Given the description of an element on the screen output the (x, y) to click on. 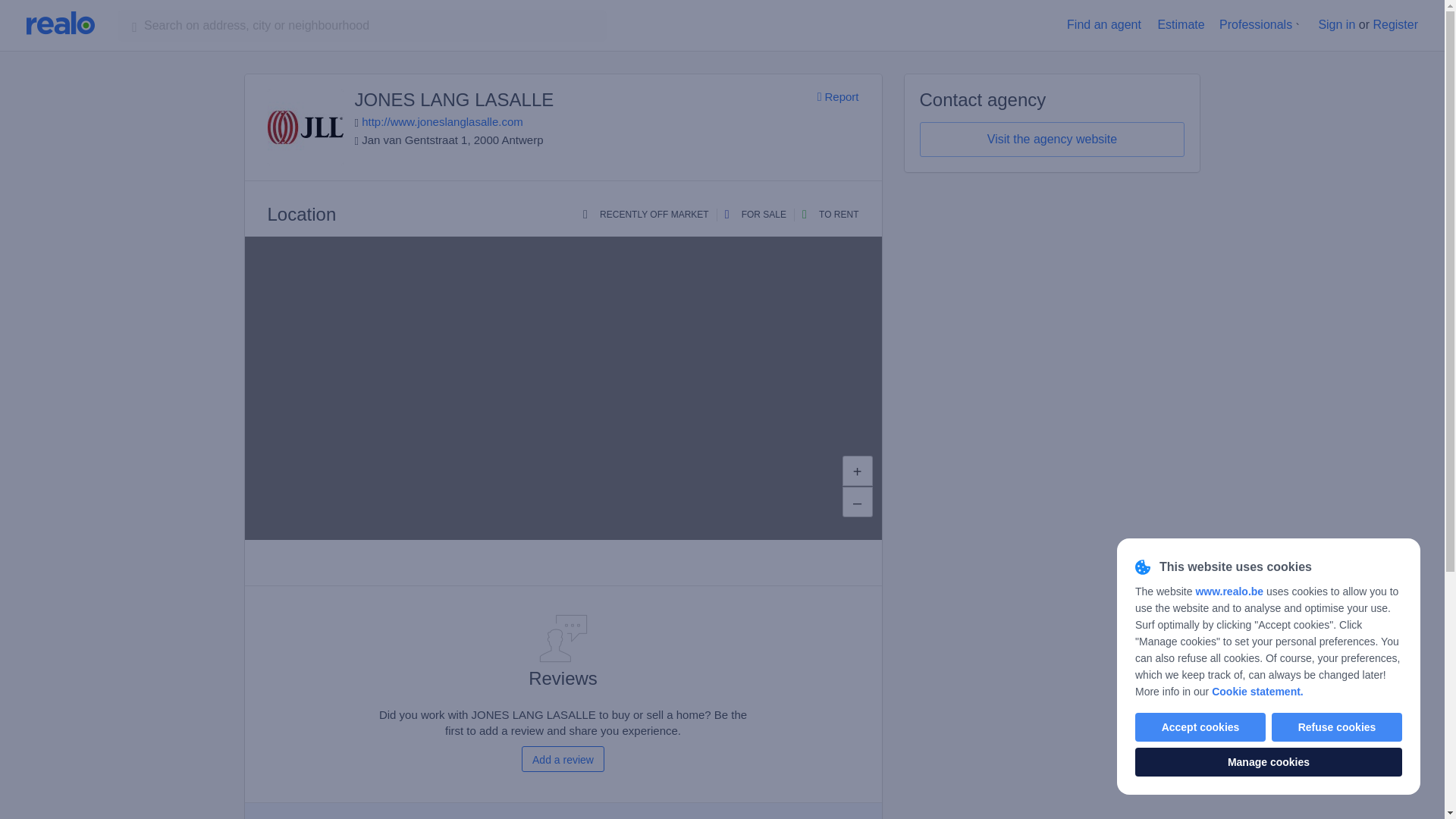
Professionals (1256, 24)
Find an agent (1104, 24)
Report (837, 96)
Realo (60, 23)
Estimate (1180, 24)
Add a review (562, 759)
